Given the description of an element on the screen output the (x, y) to click on. 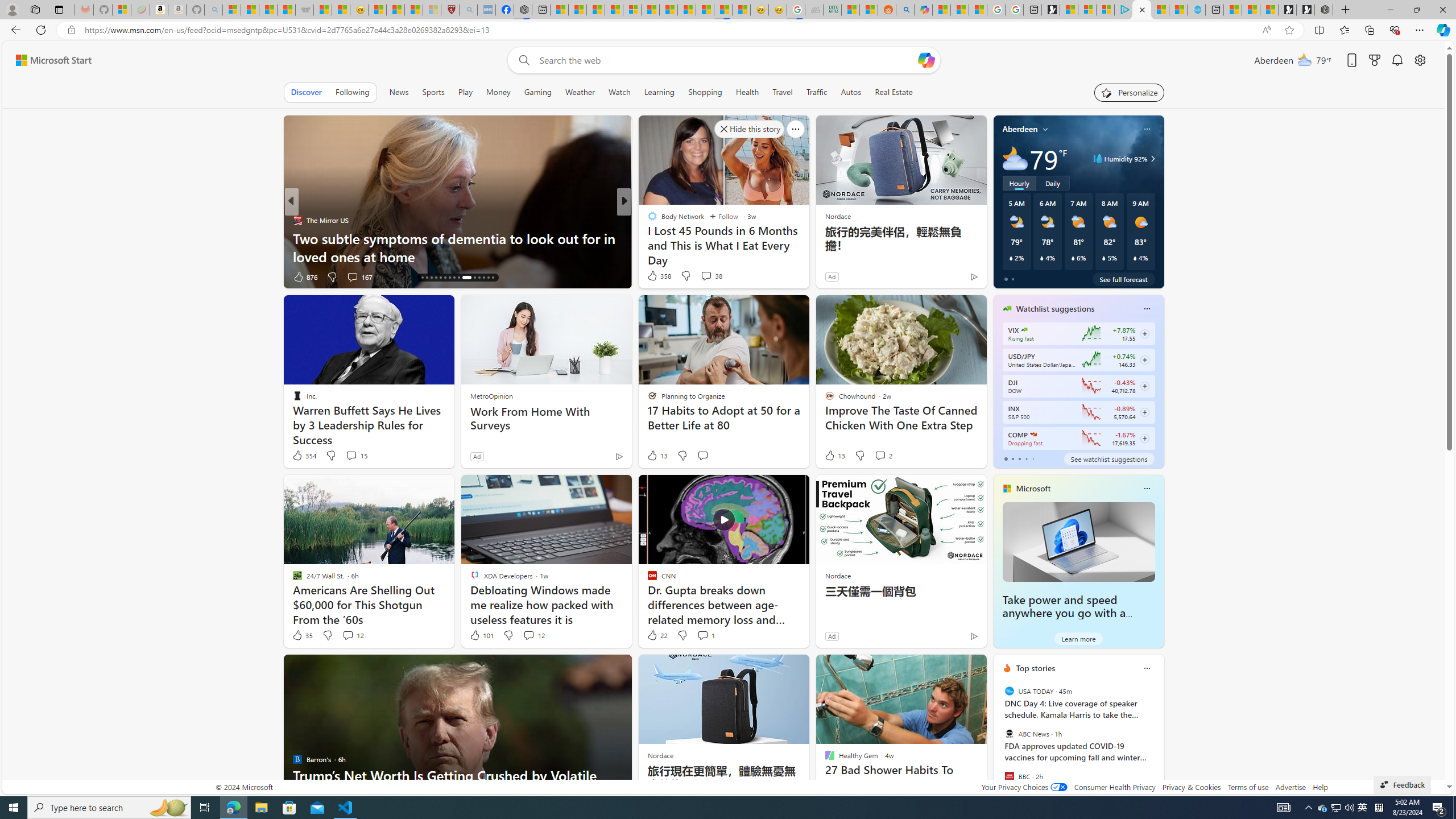
Real Estate (893, 92)
View comments 64 Comment (6, 276)
Tab actions menu (58, 9)
USA TODAY (1008, 691)
News (398, 92)
Read aloud this page (Ctrl+Shift+U) (1266, 29)
Microsoft Start (53, 60)
Recipes - MSN (377, 9)
Class: follow-button  m (1144, 438)
Discover (306, 92)
